Given the description of an element on the screen output the (x, y) to click on. 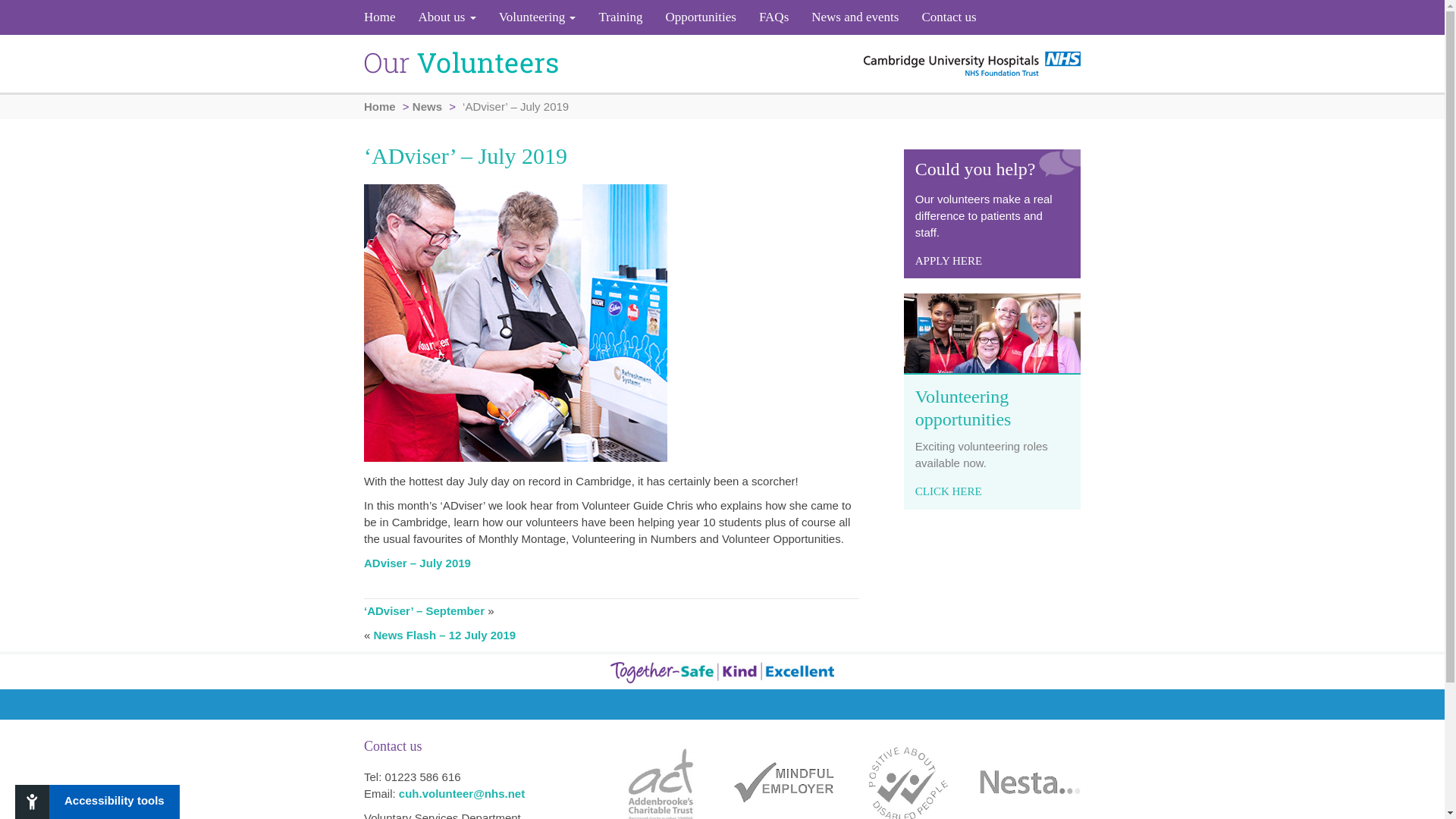
Contact us (942, 17)
FAQs (773, 17)
News and events (854, 17)
Opportunities (700, 17)
Contact us (942, 17)
Volunteering (537, 17)
About us (447, 17)
Opportunities (700, 17)
Volunteering (537, 17)
APPLY HERE (948, 261)
Training (619, 17)
Home (385, 17)
News and events (854, 17)
Home (385, 17)
Training (619, 17)
